Given the description of an element on the screen output the (x, y) to click on. 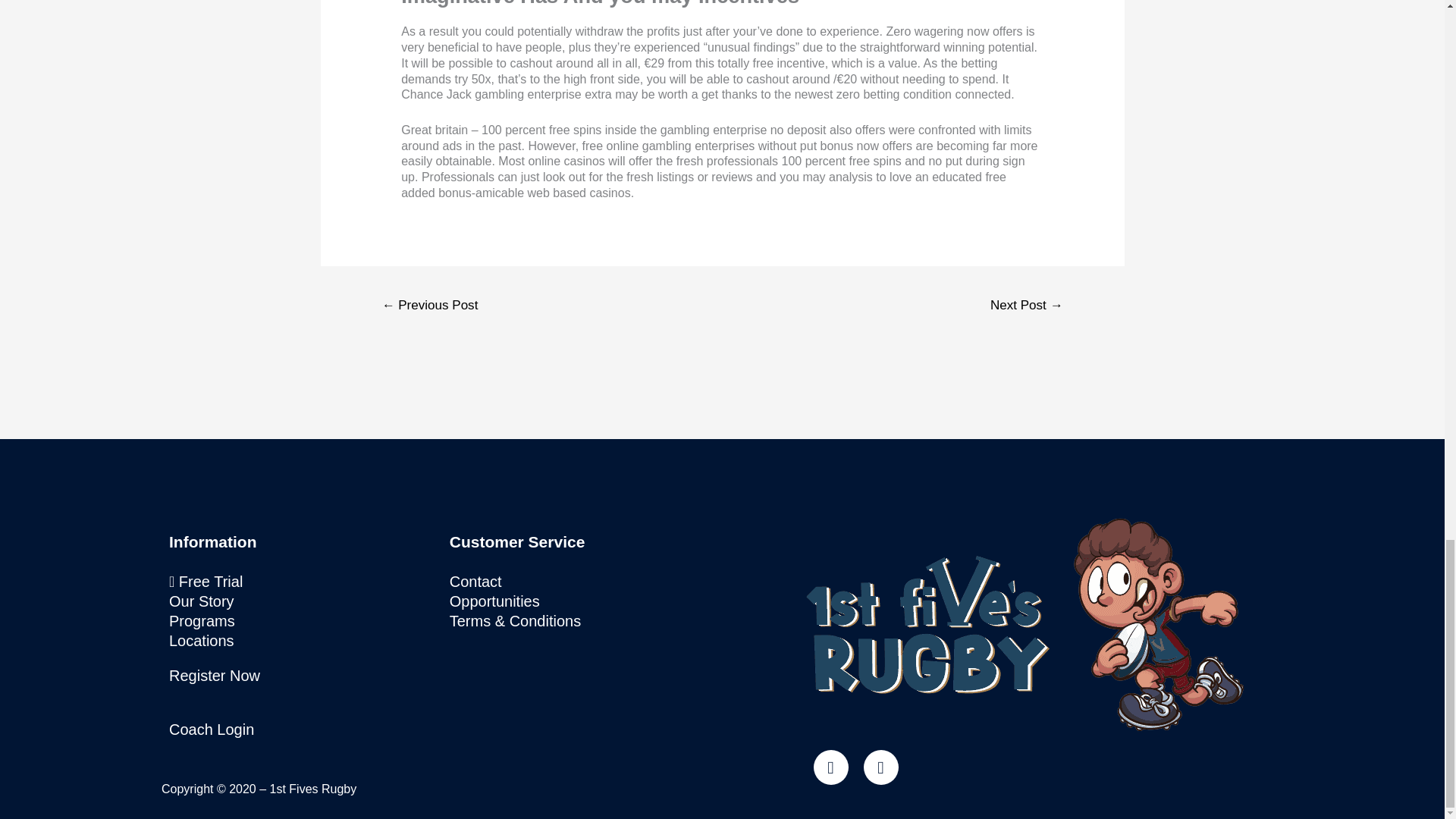
Our Story (300, 600)
Locations (300, 640)
Programs (300, 620)
